Given the description of an element on the screen output the (x, y) to click on. 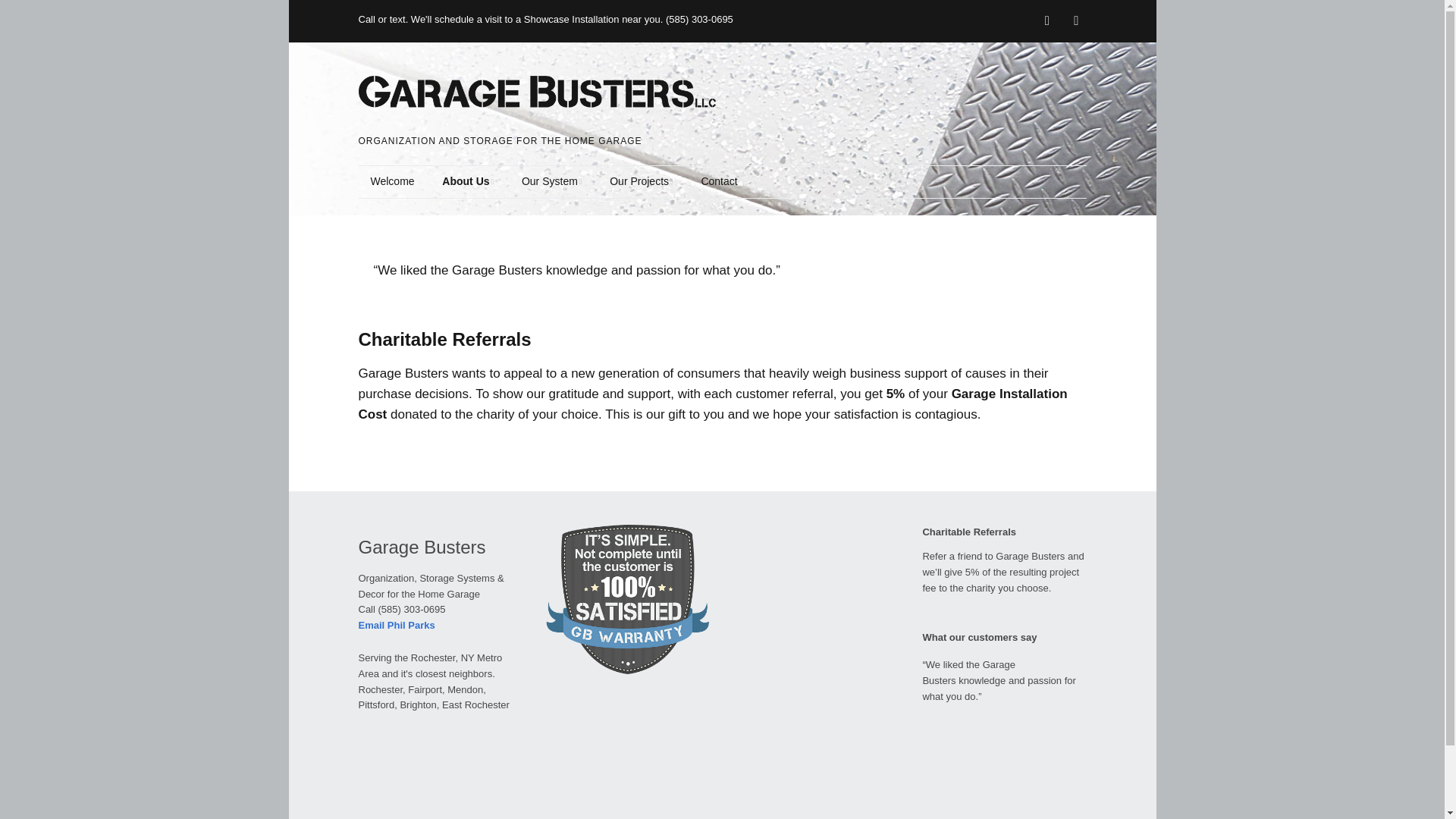
Contact (718, 182)
Welcome (392, 182)
Email Phil Parks (395, 624)
Email Garage Busters LLC (395, 624)
About Us (467, 182)
Our System (551, 182)
Our Projects (640, 182)
